Given the description of an element on the screen output the (x, y) to click on. 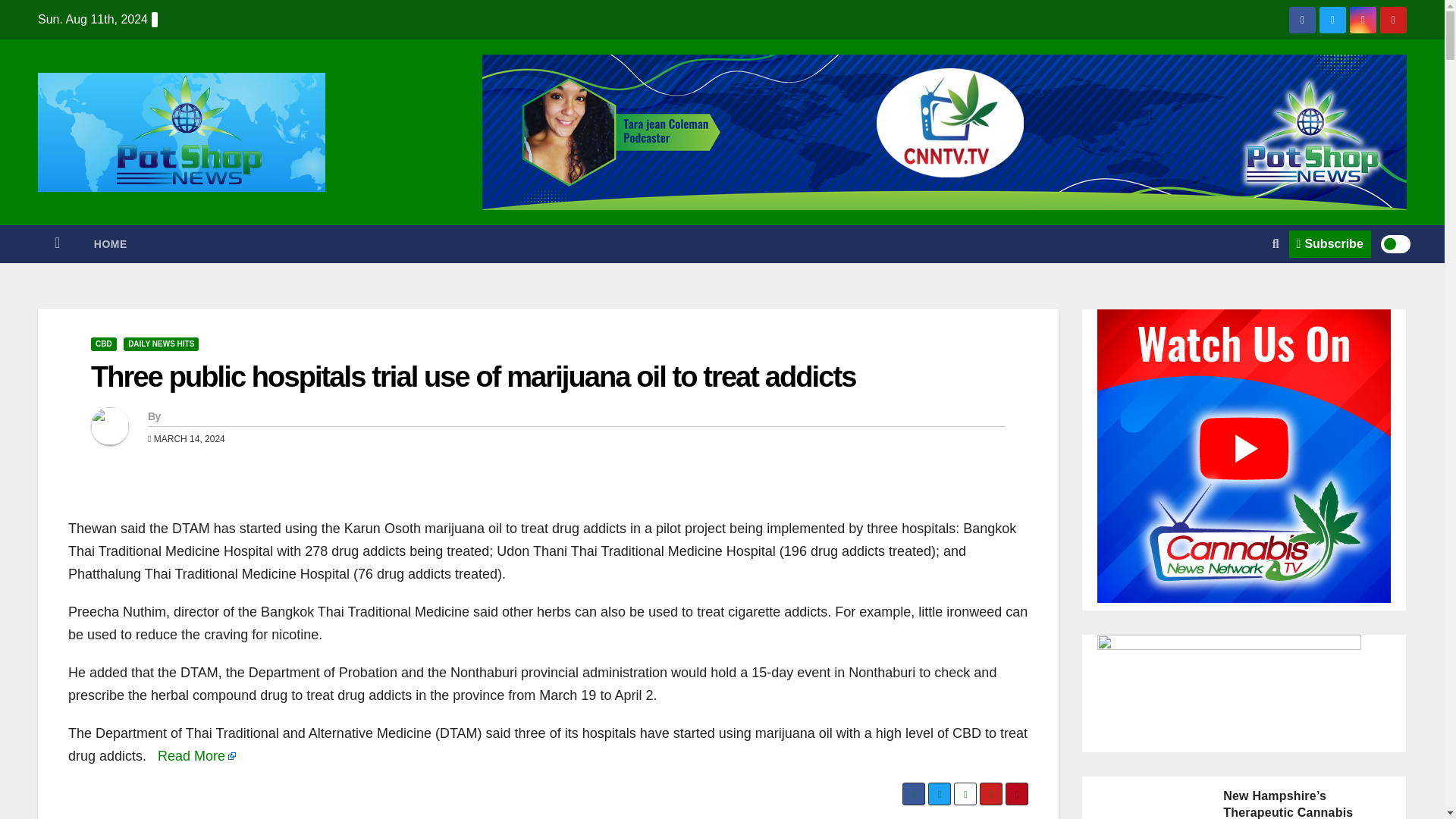
Home (57, 243)
DAILY NEWS HITS (160, 344)
Read More (196, 755)
HOME (110, 243)
CBD (103, 344)
Subscribe (1329, 243)
Home (110, 243)
